Given the description of an element on the screen output the (x, y) to click on. 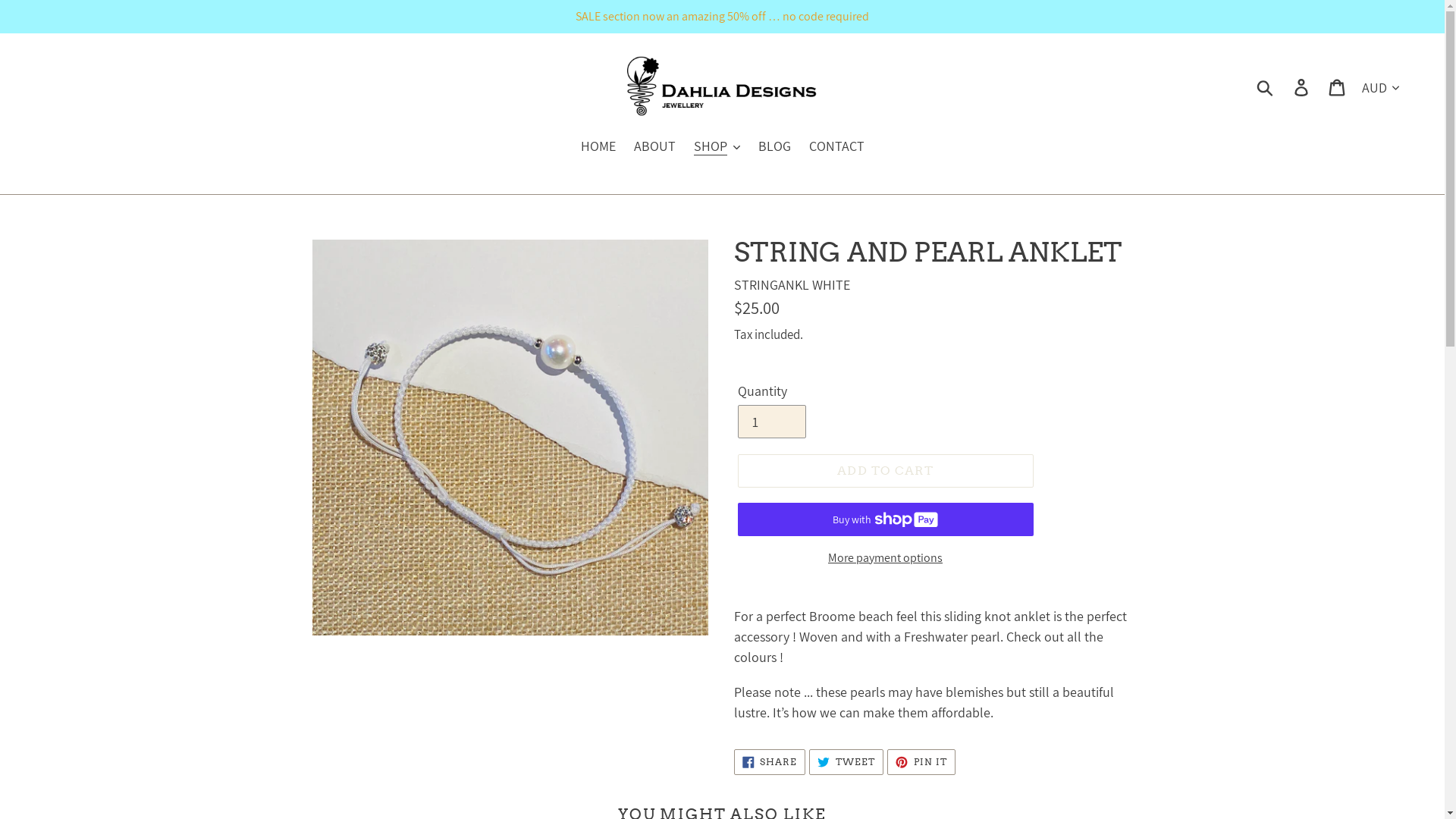
CONTACT Element type: text (835, 146)
More payment options Element type: text (884, 557)
HOME Element type: text (598, 146)
Submit Element type: text (1265, 86)
TWEET
TWEET ON TWITTER Element type: text (846, 762)
Cart Element type: text (1337, 85)
ADD TO CART Element type: text (884, 469)
ABOUT Element type: text (654, 146)
Log in Element type: text (1302, 85)
BLOG Element type: text (774, 146)
SHARE
SHARE ON FACEBOOK Element type: text (770, 762)
PIN IT
PIN ON PINTEREST Element type: text (921, 762)
